Given the description of an element on the screen output the (x, y) to click on. 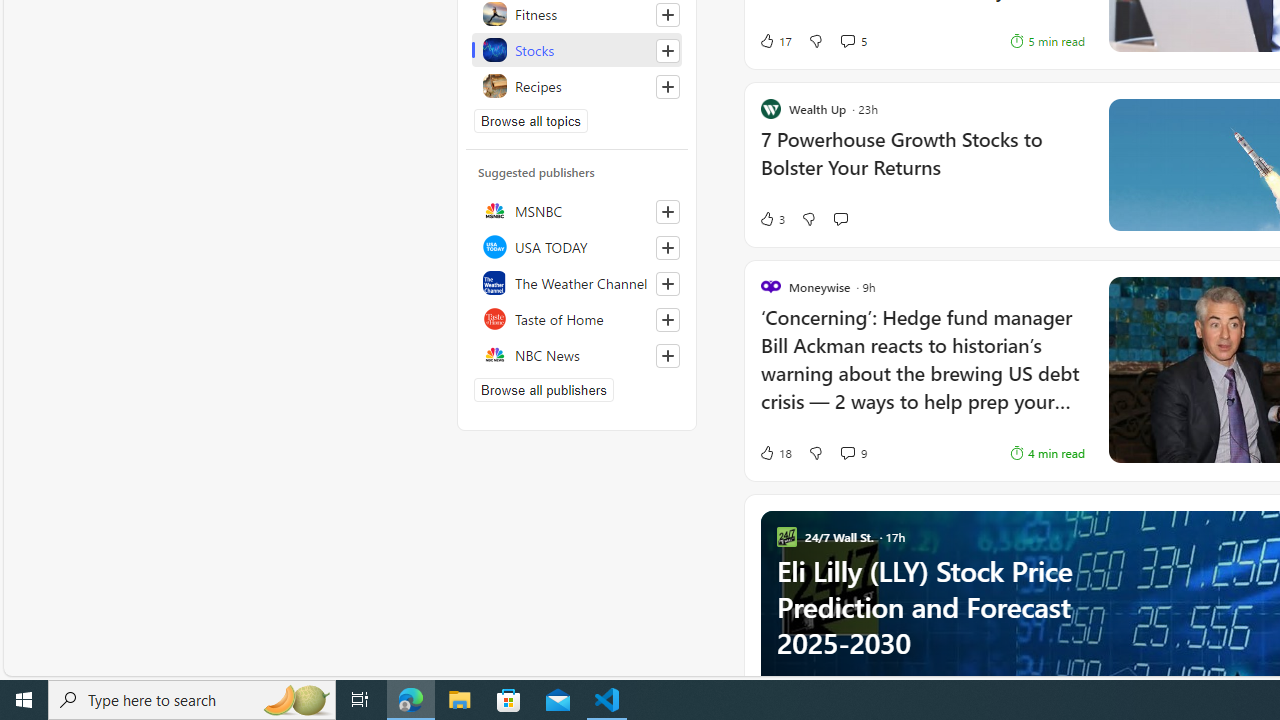
Follow this source (667, 355)
7 Powerhouse Growth Stocks to Bolster Your Returns (922, 164)
View comments 5 Comment (852, 40)
The Weather Channel (577, 282)
Taste of Home (577, 318)
USA TODAY (577, 246)
Browse all topics (530, 120)
17 Like (775, 40)
3 Like (771, 219)
Recipes (577, 85)
View comments 5 Comment (847, 40)
